Given the description of an element on the screen output the (x, y) to click on. 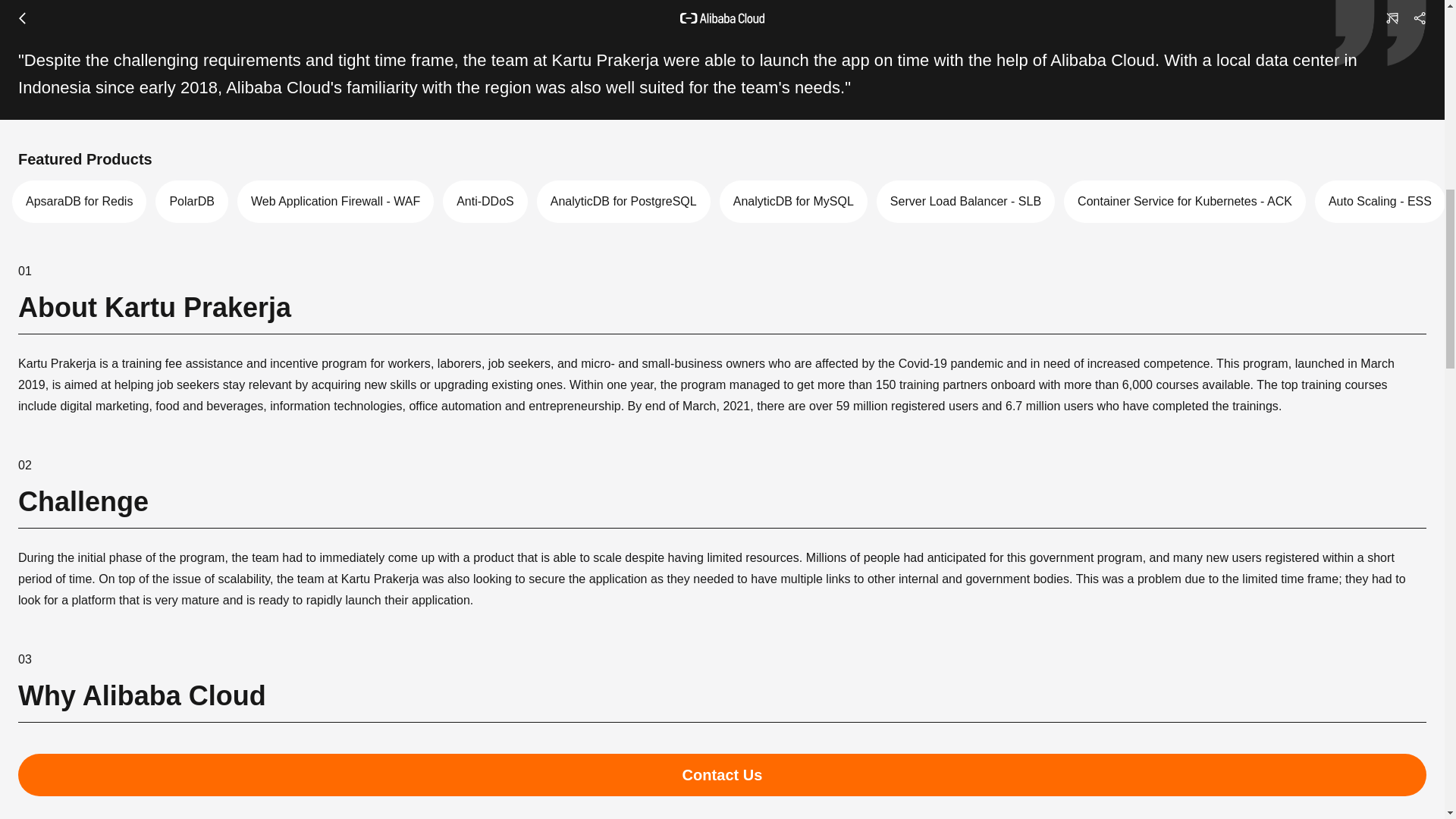
AnalyticDB for MySQL (793, 201)
Web Application Firewall - WAF (335, 201)
Server Load Balancer - SLB (965, 201)
Anti-DDoS (484, 201)
ApsaraDB for Redis (79, 201)
Container Service for Kubernetes - ACK (1185, 201)
AnalyticDB for PostgreSQL (623, 201)
PolarDB (191, 201)
